Given the description of an element on the screen output the (x, y) to click on. 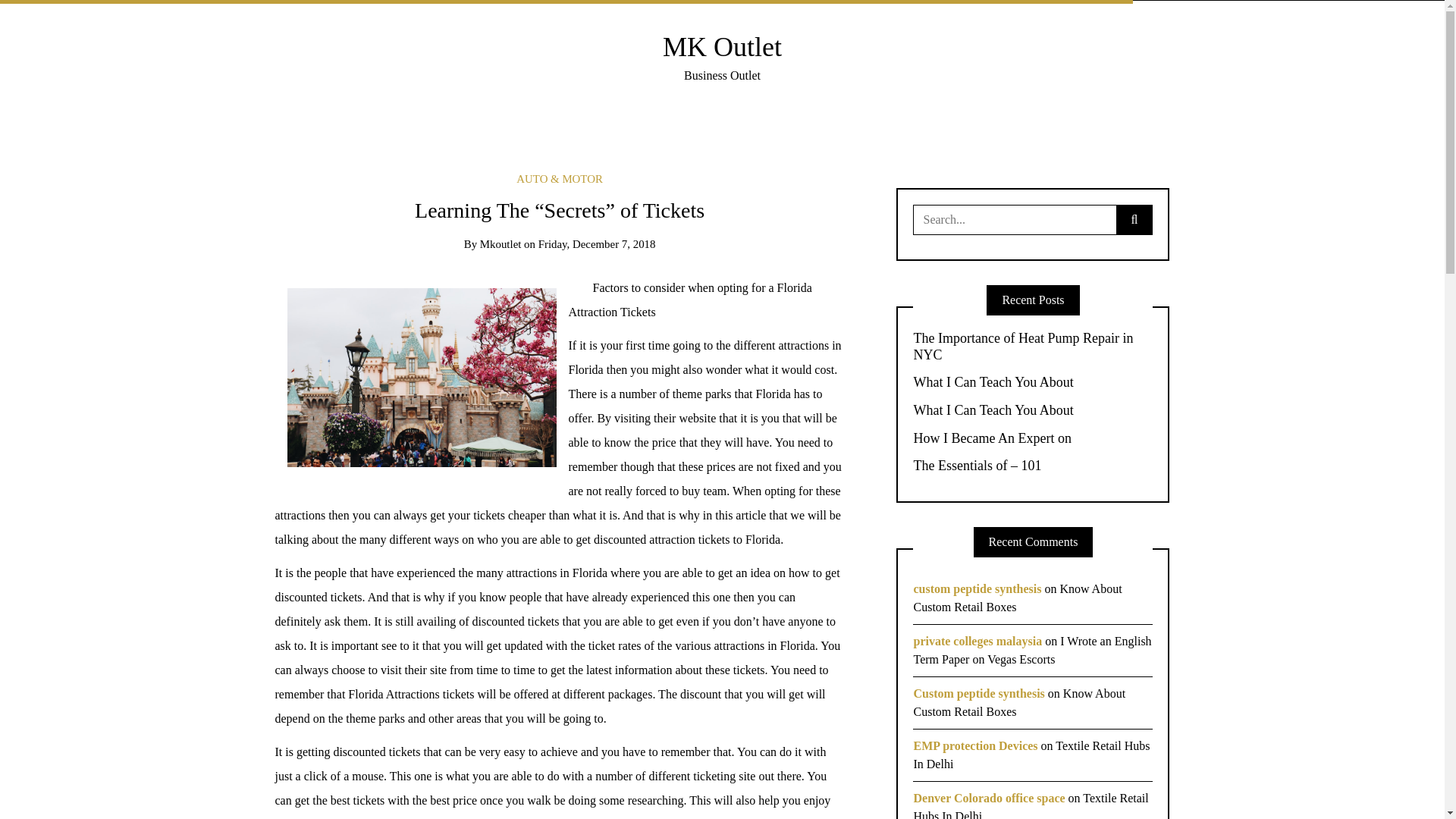
EMP protection Devices (974, 745)
Denver Colorado office space (988, 797)
Friday, December 7, 2018 (597, 244)
Mkoutlet (500, 244)
MK Outlet (721, 46)
Posts by mkoutlet (500, 244)
I Wrote an English Term Paper on Vegas Escorts (1031, 649)
Textile Retail Hubs In Delhi (1030, 805)
What I Can Teach You About (1032, 410)
Search (35, 16)
